Given the description of an element on the screen output the (x, y) to click on. 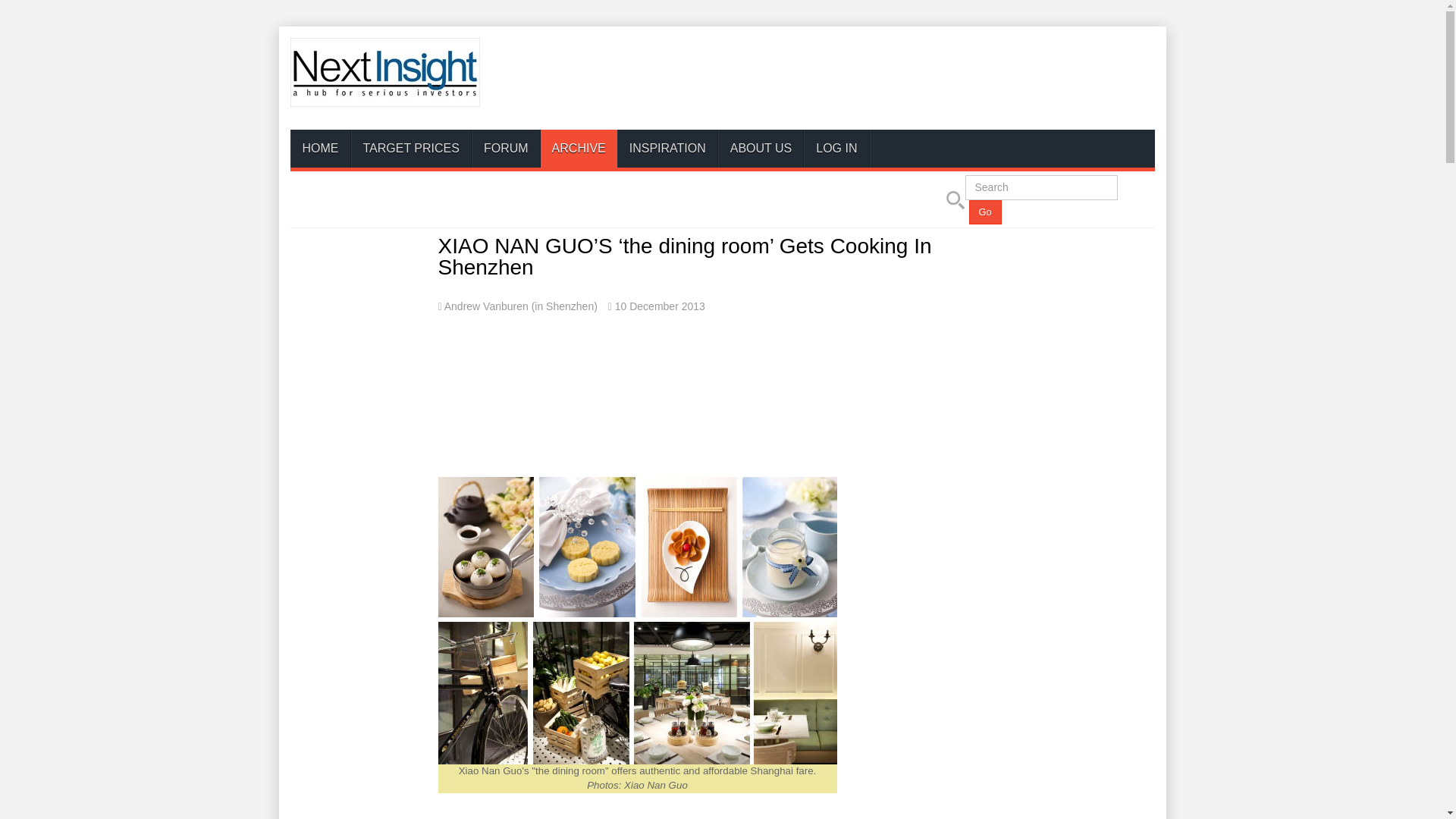
LOG IN (836, 148)
TARGET PRICES (410, 148)
Advertisement (685, 376)
Written by:  (517, 306)
INSPIRATION (667, 148)
ABOUT US (761, 148)
NextInsight (384, 72)
Published:  (656, 306)
Go (985, 211)
FORUM (505, 148)
Advertisement (878, 79)
HOME (319, 148)
ARCHIVE (578, 148)
